Given the description of an element on the screen output the (x, y) to click on. 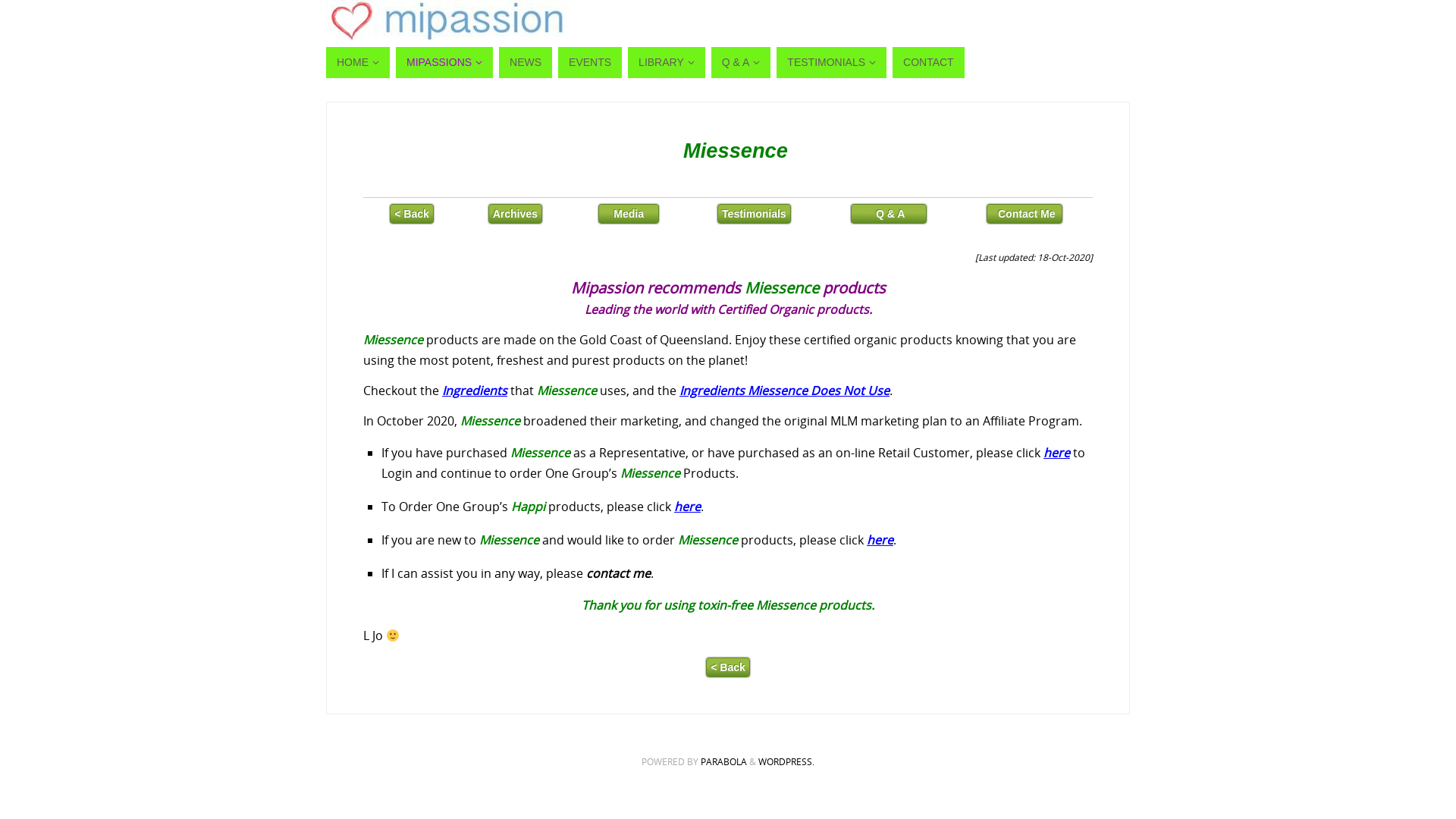
MIPASSIONS Element type: text (443, 62)
LIBRARY Element type: text (666, 62)
Q & A Element type: text (888, 213)
Media Element type: text (628, 213)
Contact Me Element type: text (1024, 213)
WORDPRESS. Element type: text (786, 761)
MiPassion Element type: hover (447, 21)
NEWS Element type: text (525, 62)
here Element type: text (687, 506)
here Element type: text (879, 539)
Archives Element type: text (515, 213)
here Element type: text (1056, 452)
contact me Element type: text (618, 572)
Ingredients Miessence Does Not Use Element type: text (784, 390)
TESTIMONIALS Element type: text (831, 62)
Q & A Element type: text (741, 62)
< Back Element type: text (411, 213)
Ingredients Element type: text (474, 390)
HOME Element type: text (357, 62)
< Back Element type: text (727, 667)
Testimonials Element type: text (753, 213)
EVENTS Element type: text (589, 62)
PARABOLA Element type: text (723, 761)
CONTACT Element type: text (928, 62)
